Given the description of an element on the screen output the (x, y) to click on. 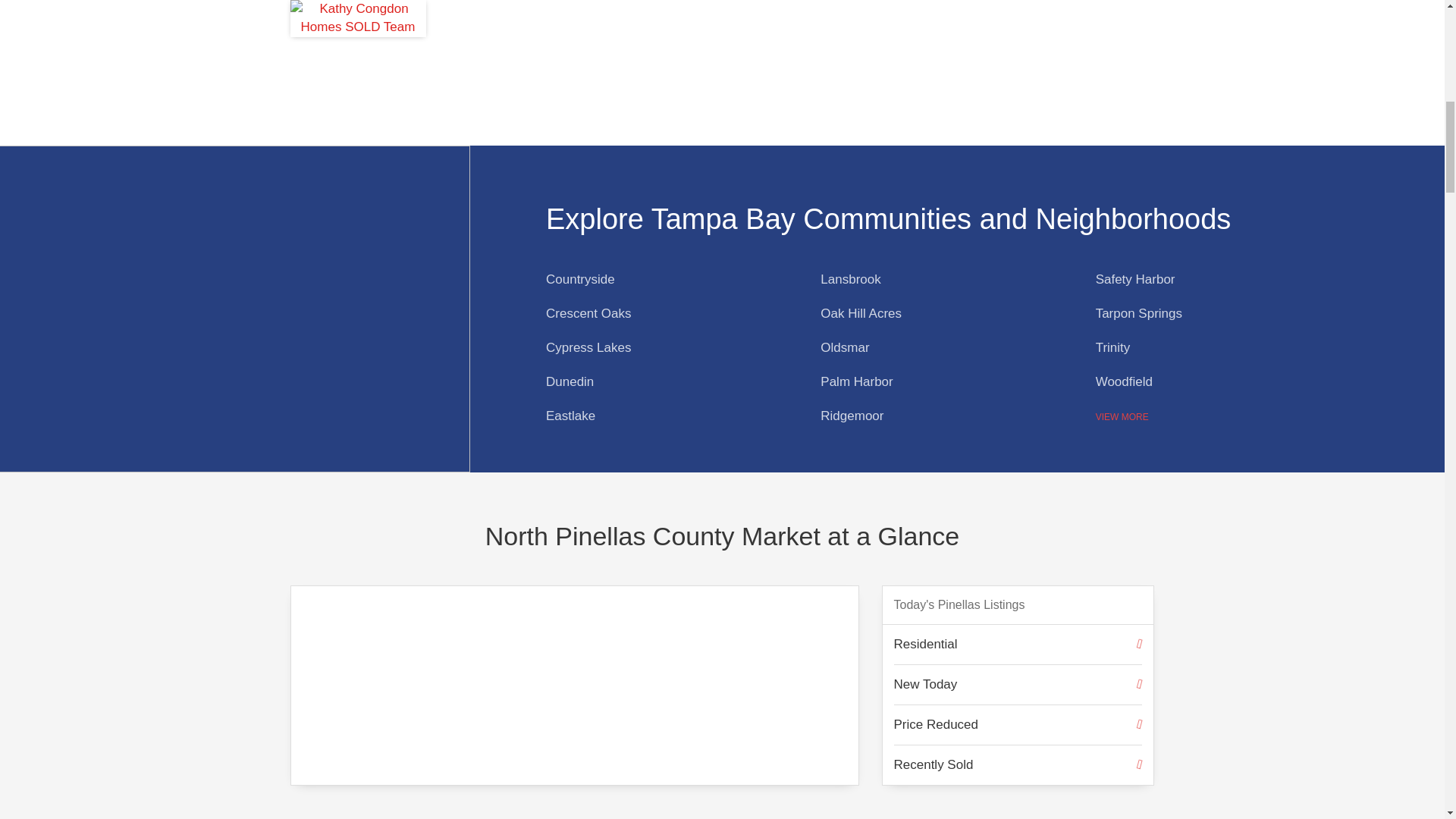
View Eastlake (570, 415)
View Dunedin (570, 381)
View Countryside (580, 278)
View Oak Hill Acres (861, 313)
View Cypress Lakes (588, 347)
View Lansbrook (850, 278)
View Crescent Oaks (588, 313)
